Given the description of an element on the screen output the (x, y) to click on. 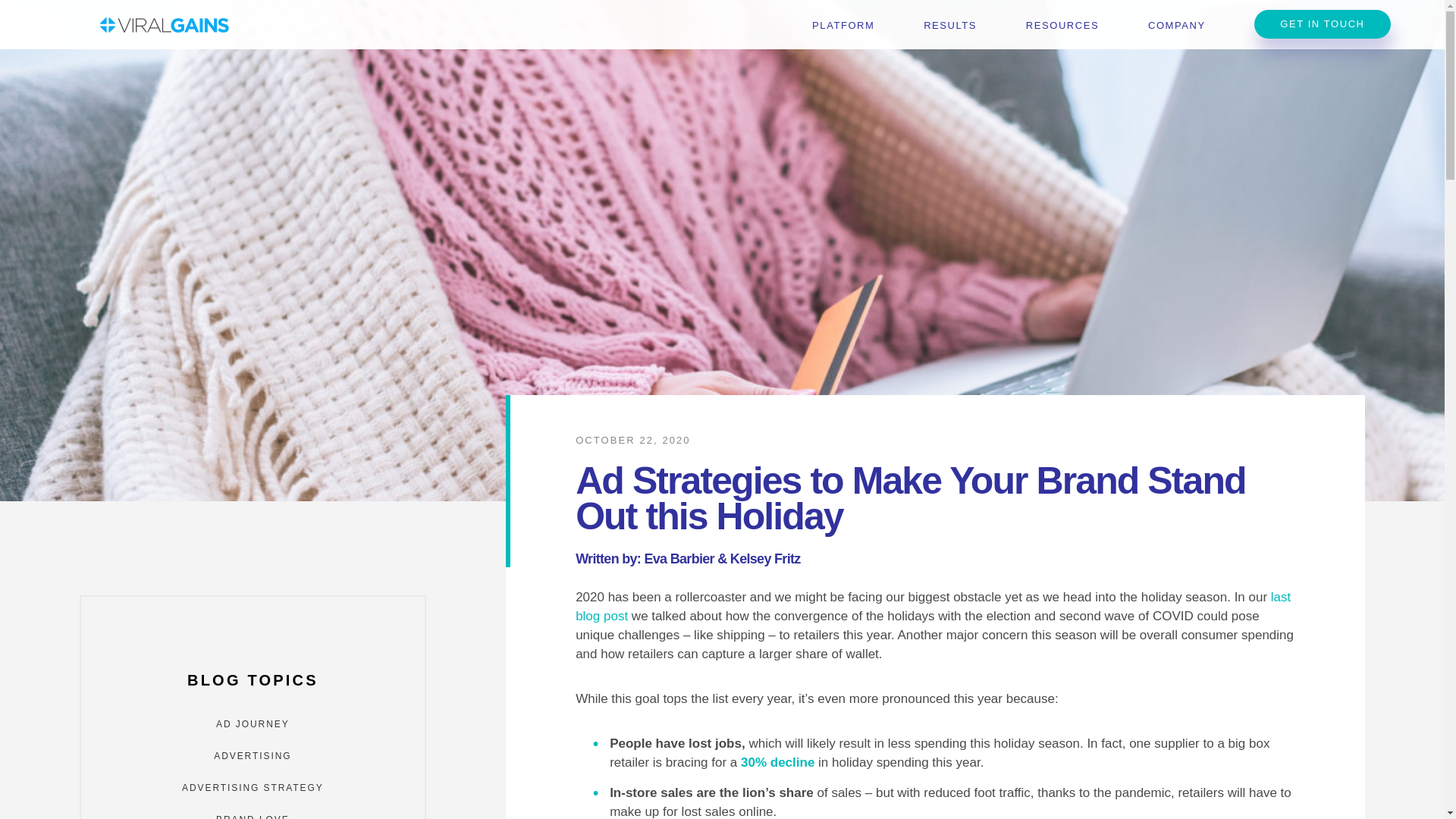
GET IN TOUCH (1321, 23)
last blog post (932, 606)
COMPANY (1176, 25)
RESULTS (949, 25)
RESOURCES (1062, 25)
PLATFORM (843, 25)
OCTOBER 22, 2020 (632, 439)
